Given the description of an element on the screen output the (x, y) to click on. 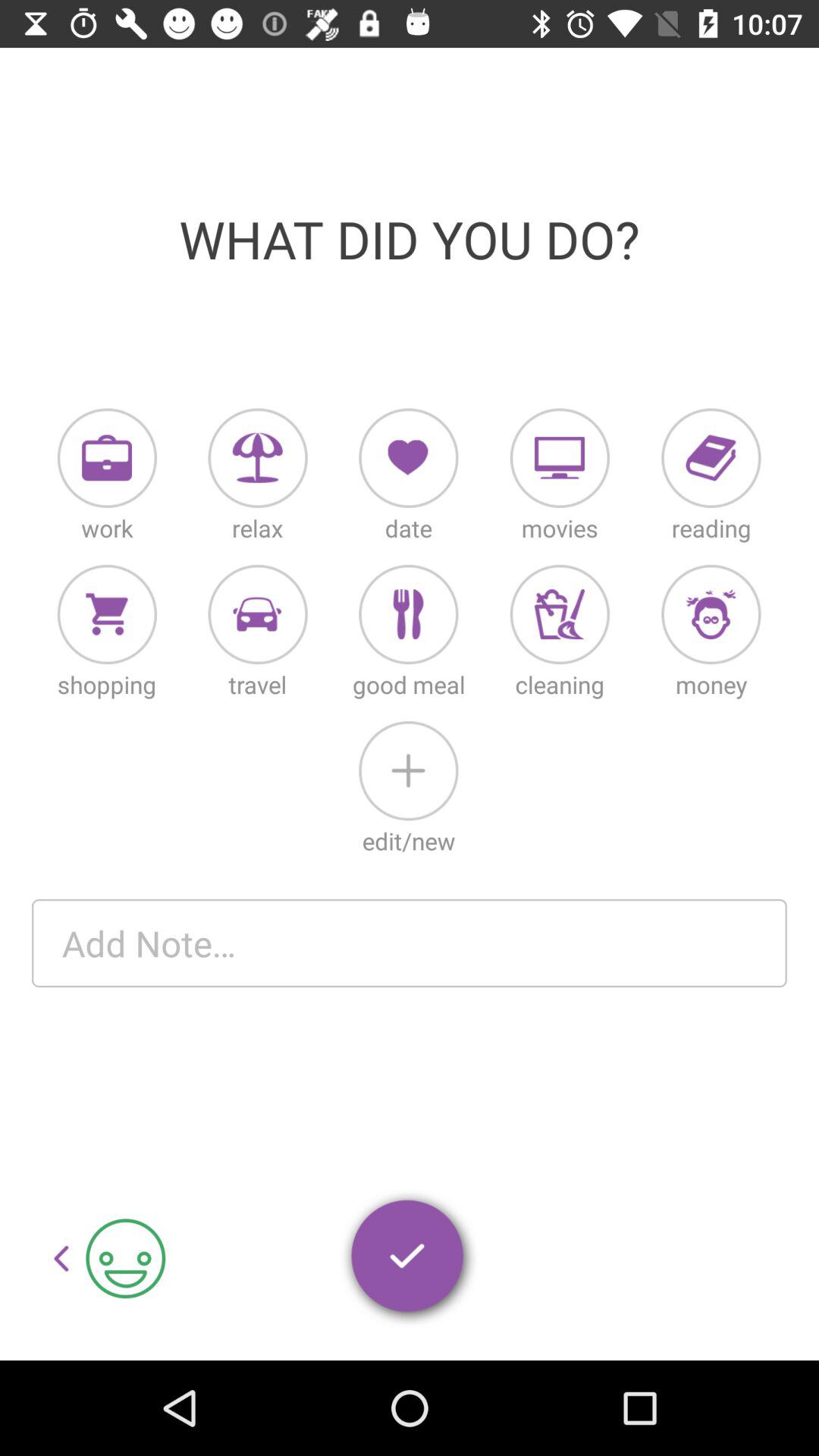
travel (257, 614)
